Given the description of an element on the screen output the (x, y) to click on. 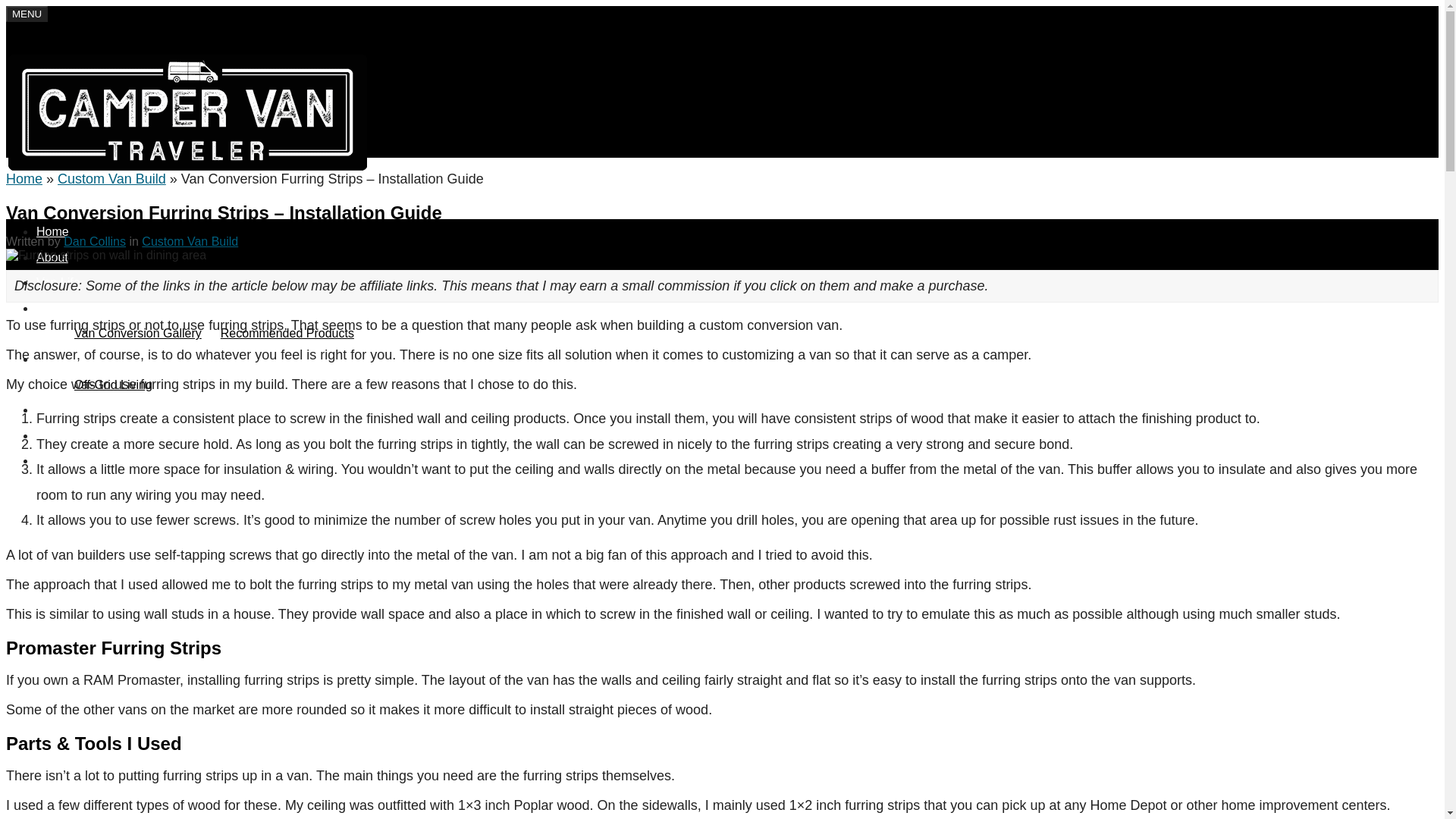
Recommended Products (287, 332)
Custom Van Build (189, 241)
MENU (26, 13)
Home (52, 231)
Van Life (58, 282)
RV Topics (63, 358)
Camping (60, 435)
Van Conversion Gallery (138, 332)
Dan Collins (94, 241)
Off-Grid Living (113, 384)
